Given the description of an element on the screen output the (x, y) to click on. 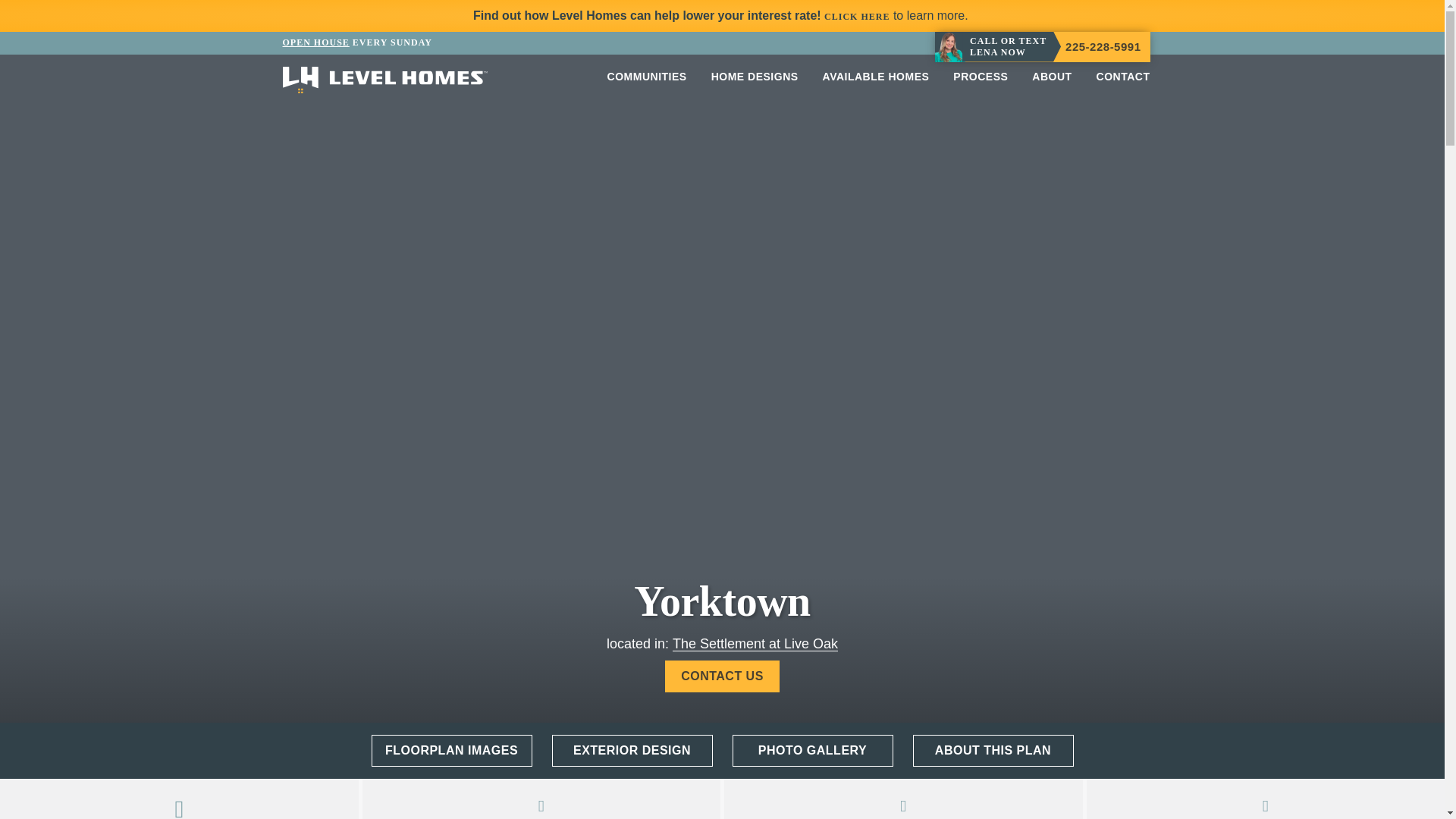
Skip to content (44, 55)
CLICK HERE (856, 16)
ABOUT THIS PLAN (993, 749)
FLOORPLAN IMAGES (451, 749)
AVAILABLE HOMES (876, 76)
PHOTO GALLERY (812, 749)
OPEN HOUSE EVERY SUNDAY (356, 41)
COMMUNITIES (646, 76)
PROCESS (980, 76)
